Given the description of an element on the screen output the (x, y) to click on. 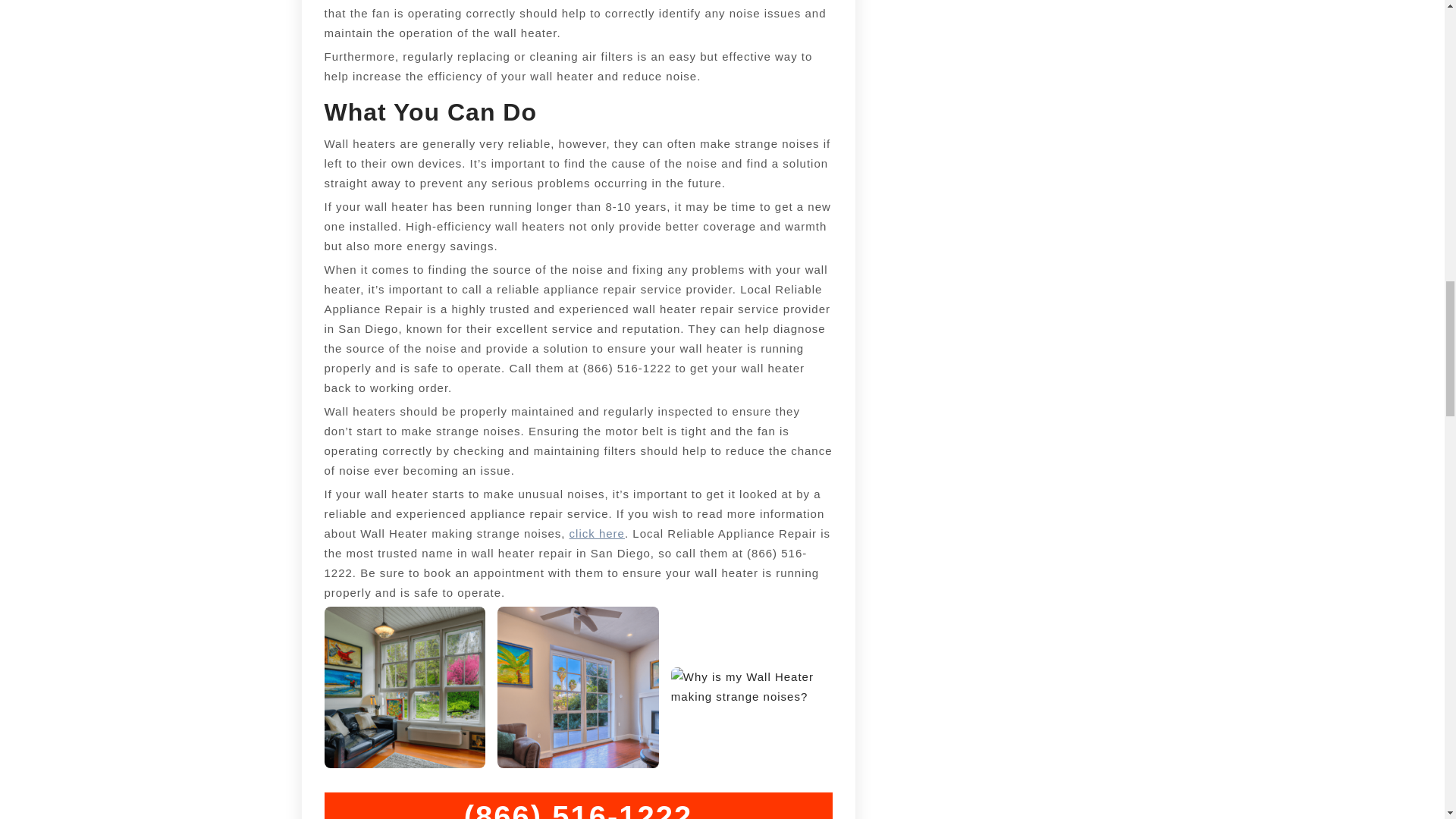
click here (596, 533)
